Given the description of an element on the screen output the (x, y) to click on. 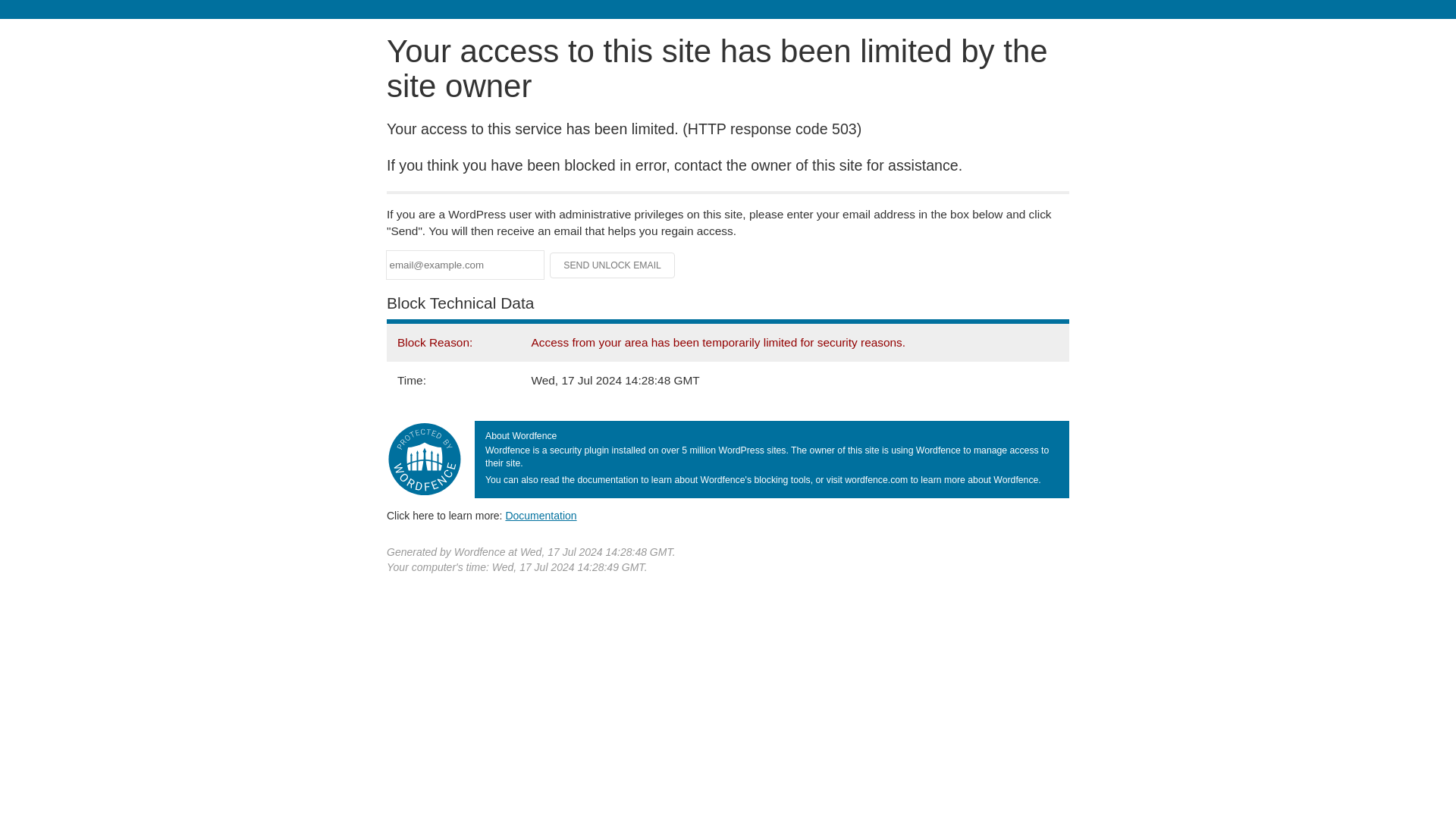
Send Unlock Email (612, 265)
Documentation (540, 515)
Send Unlock Email (612, 265)
